Given the description of an element on the screen output the (x, y) to click on. 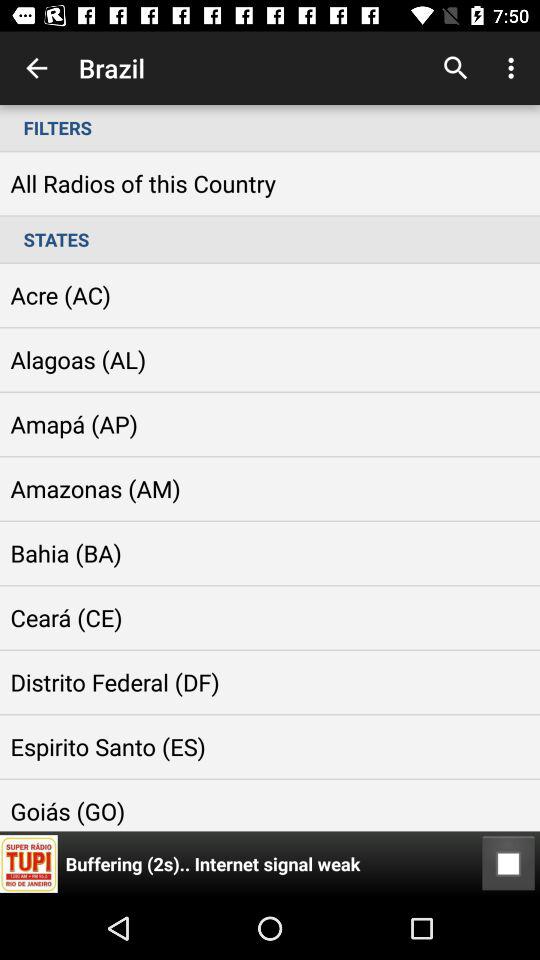
open the icon to the right of buffering 2s internet (508, 863)
